Given the description of an element on the screen output the (x, y) to click on. 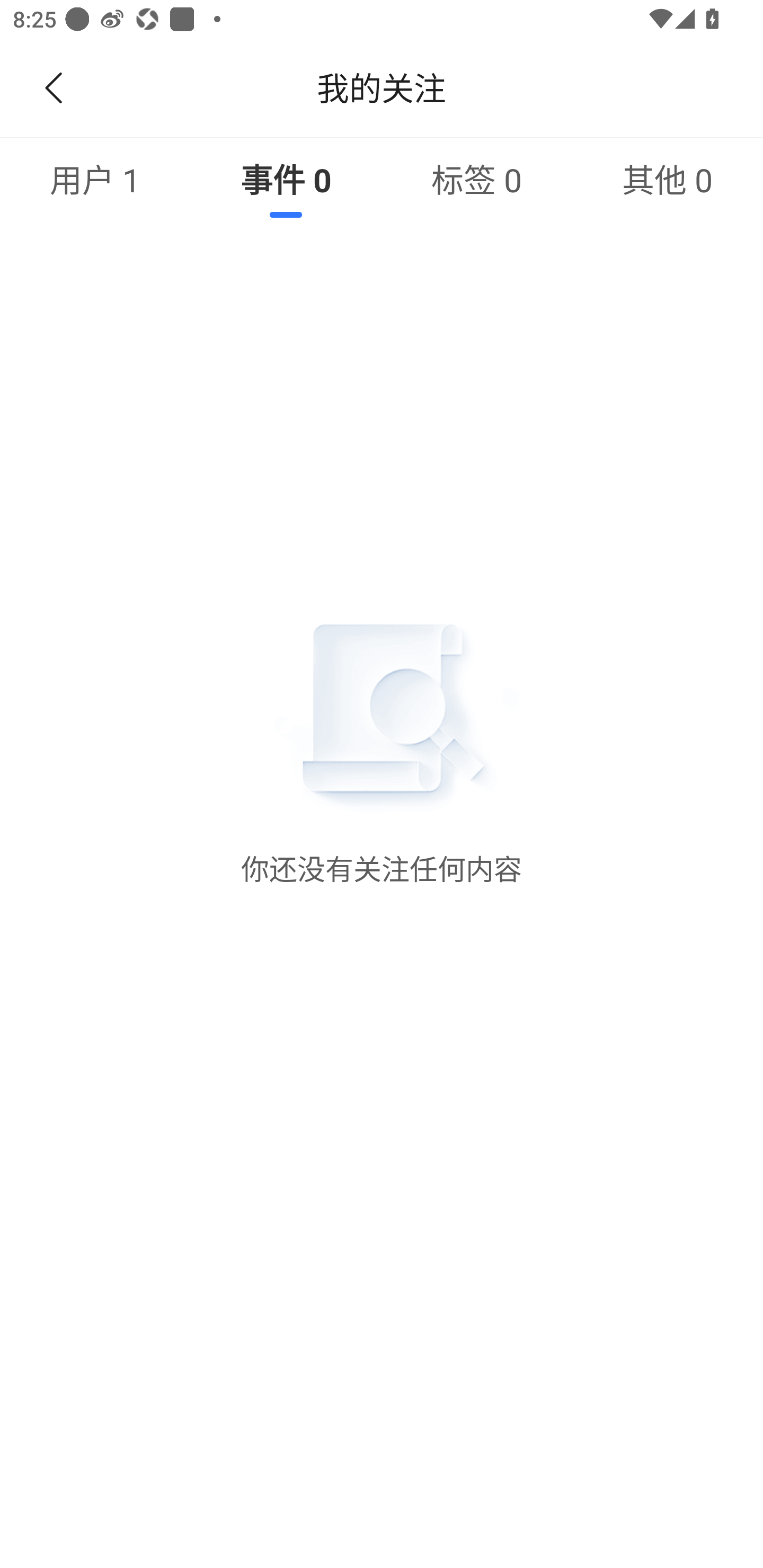
返回，可点击 (49, 87)
用户&nbsp;1，可选中 (95, 179)
已选中事件&nbsp;0 (285, 179)
标签&nbsp;0，可选中 (476, 179)
其他&nbsp;0，可选中 (667, 179)
